Given the description of an element on the screen output the (x, y) to click on. 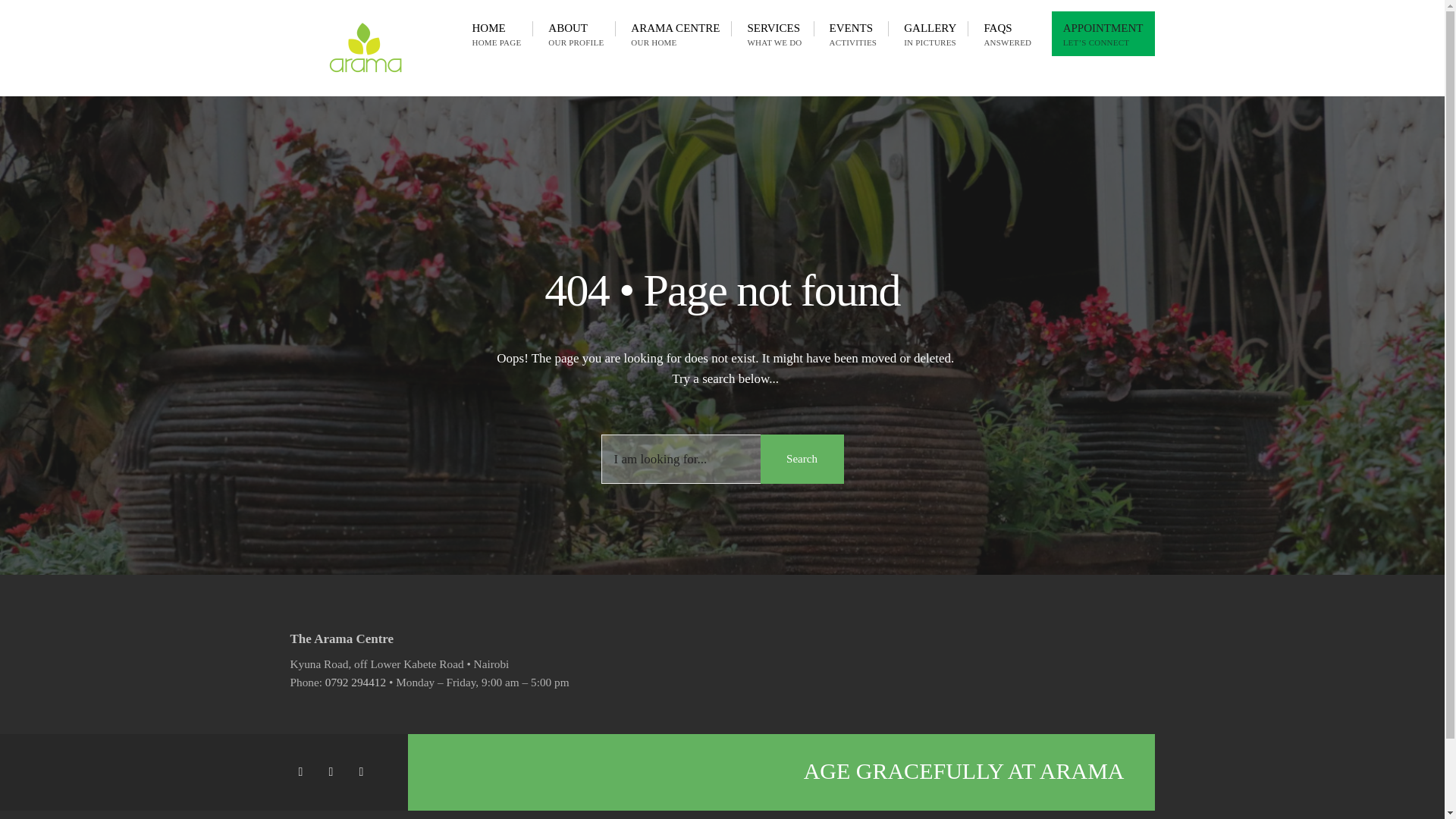
Instagram (363, 772)
0792 294412 (354, 681)
Twitter (333, 772)
Facebook (302, 772)
I am looking for... (1007, 33)
Skip to content (930, 33)
Search (576, 33)
